Given the description of an element on the screen output the (x, y) to click on. 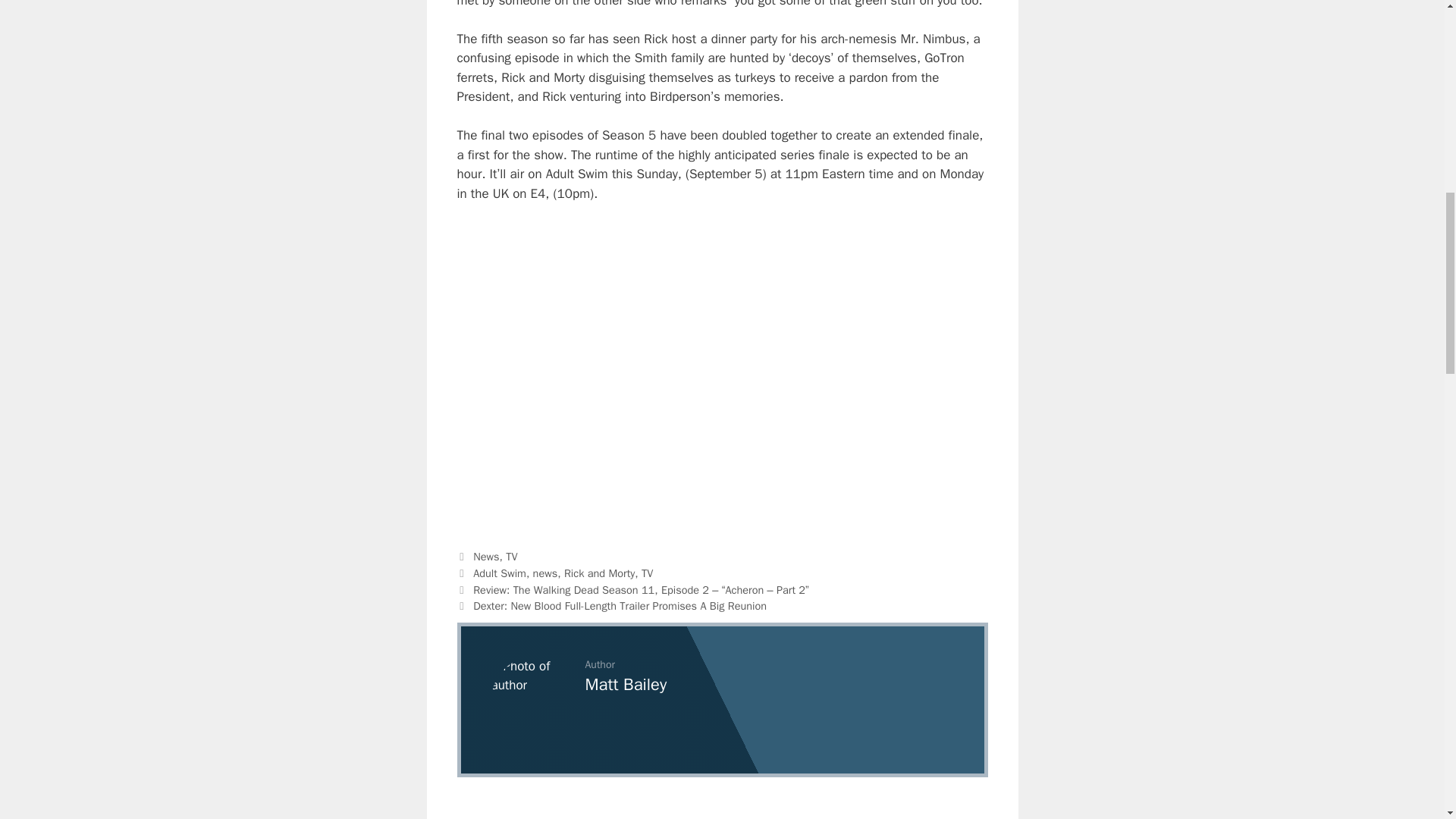
Rick and Morty (599, 572)
News (486, 556)
Adult Swim (499, 572)
news (544, 572)
Dexter: New Blood Full-Length Trailer Promises A Big Reunion (620, 605)
